Given the description of an element on the screen output the (x, y) to click on. 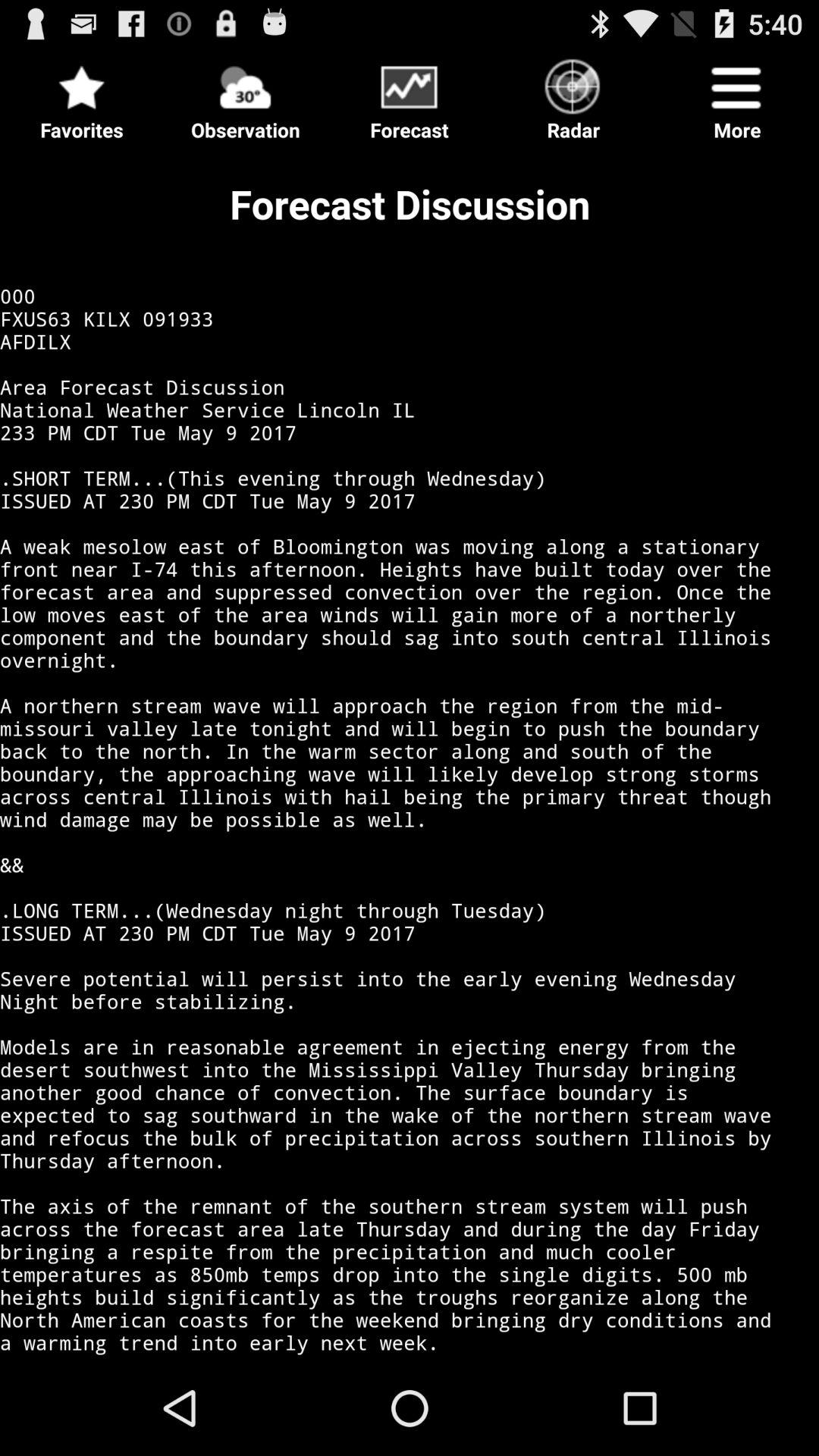
flip to favorites item (81, 95)
